Given the description of an element on the screen output the (x, y) to click on. 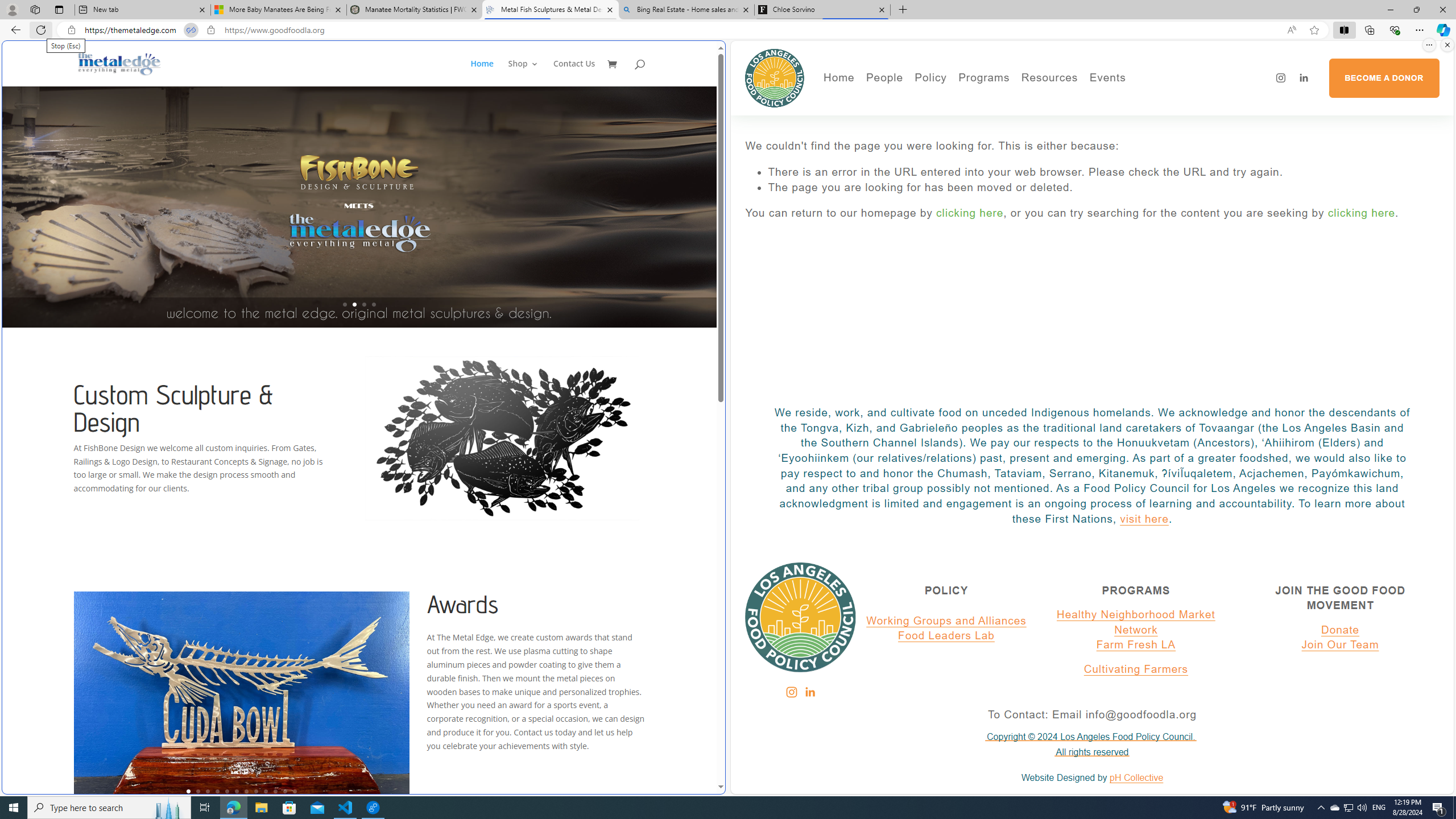
The page you are looking for has been moved or deleted. (1103, 187)
Reports (922, 165)
Tabs in split screen (190, 29)
7 (246, 790)
Cultivating Farmers (1015, 132)
Farm Fresh LA (1136, 645)
Close split screen. (1447, 45)
10 (275, 790)
